Given the description of an element on the screen output the (x, y) to click on. 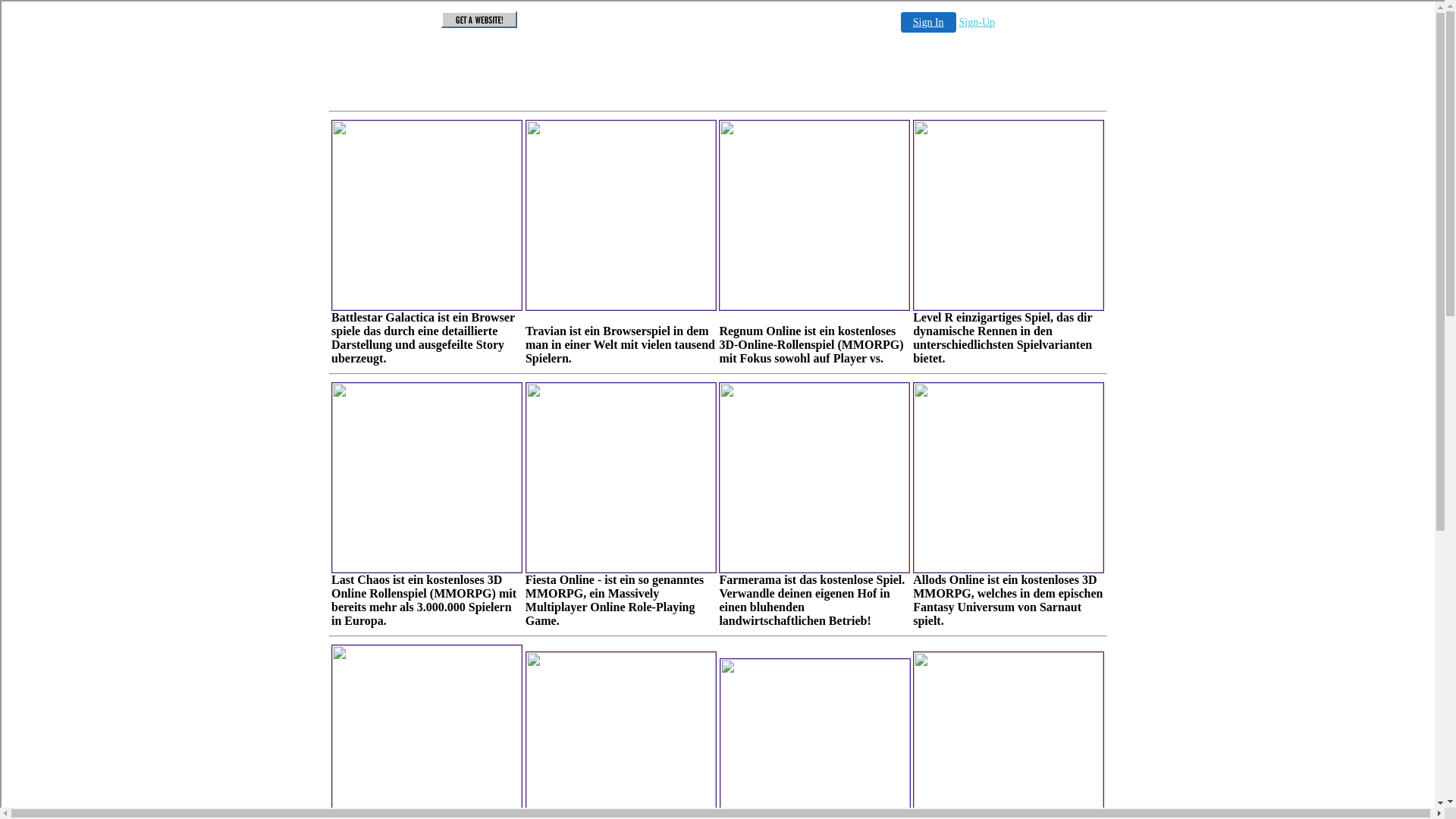
Sign In Element type: text (930, 61)
spiele spielen mario Element type: text (505, 548)
war of titans extra pack Element type: text (505, 447)
deutsche mmorpg games Element type: text (667, 510)
testspiel deutschland bosnien 2010 Element type: text (505, 727)
urlaubs-imperium crack Element type: text (505, 524)
browsergames top 100 Element type: text (505, 363)
wortspiele kostenlos ohne anmeldung Element type: text (505, 393)
flash kartenspiel solitar Element type: text (505, 673)
ratespiele online Element type: text (505, 757)
kinderspielhaus moritz Element type: text (505, 339)
Sign-Up Element type: text (979, 62)
mmorpg spielen Element type: text (505, 423)
Cars spielzeug Element type: text (722, 202)
wortspiele gratis Element type: text (505, 596)
farmerama tipps level Element type: text (505, 572)
dora spiele Element type: text (505, 697)
kostenlose actionspiele Element type: text (505, 649)
farm frenzy 3 ice age trainer Element type: text (505, 499)
